Given the description of an element on the screen output the (x, y) to click on. 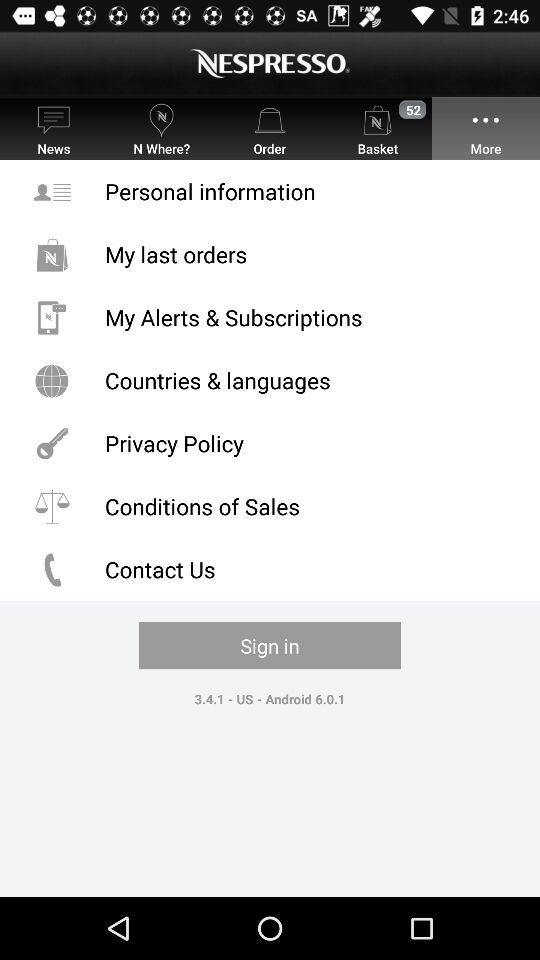
launch countries & languages icon (270, 380)
